Given the description of an element on the screen output the (x, y) to click on. 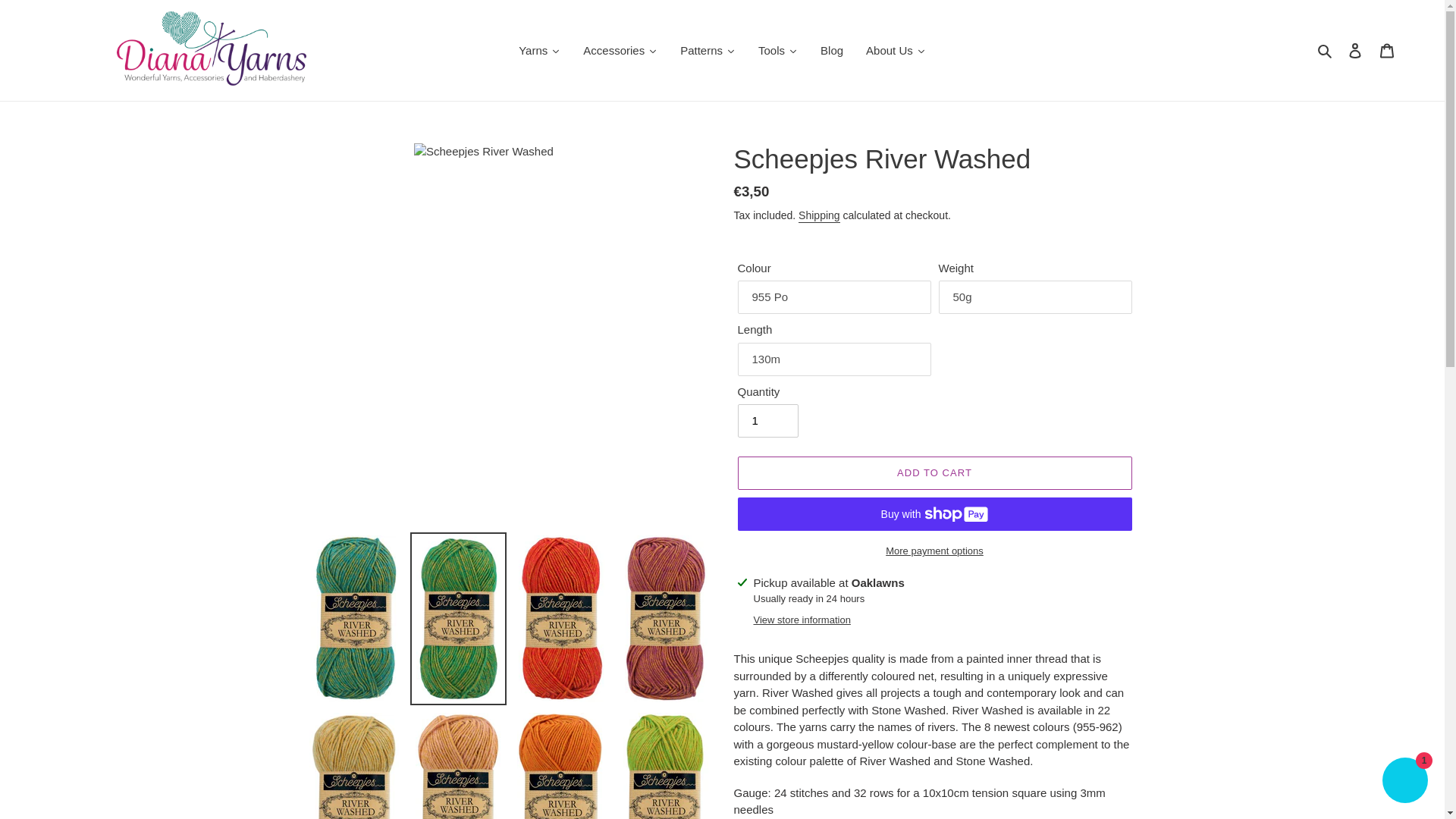
Blog (831, 50)
Shopify online store chat (1404, 781)
Accessories (620, 50)
Blog (831, 50)
Patterns (707, 50)
Yarns (539, 50)
Cart (1387, 50)
Tools (777, 50)
Yarns (539, 50)
Log in (1355, 50)
About Us (895, 50)
Accessories (620, 50)
1 (766, 420)
Patterns (707, 50)
About Us (895, 50)
